Given the description of an element on the screen output the (x, y) to click on. 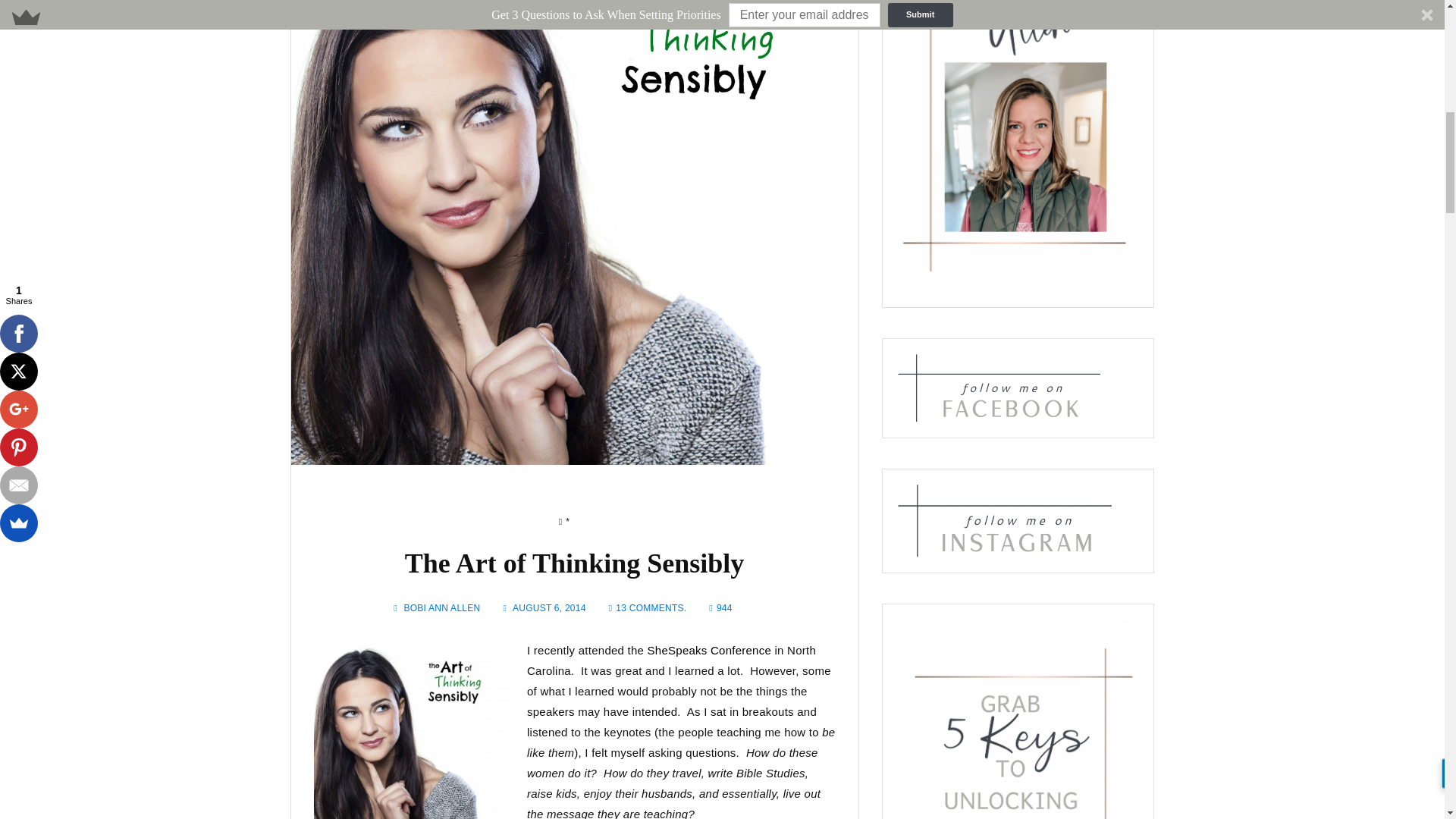
BOBI ANN ALLEN (442, 607)
AUGUST 6, 2014 (549, 607)
SheSpeaks Conference (709, 649)
13 COMMENTS. (650, 607)
